Given the description of an element on the screen output the (x, y) to click on. 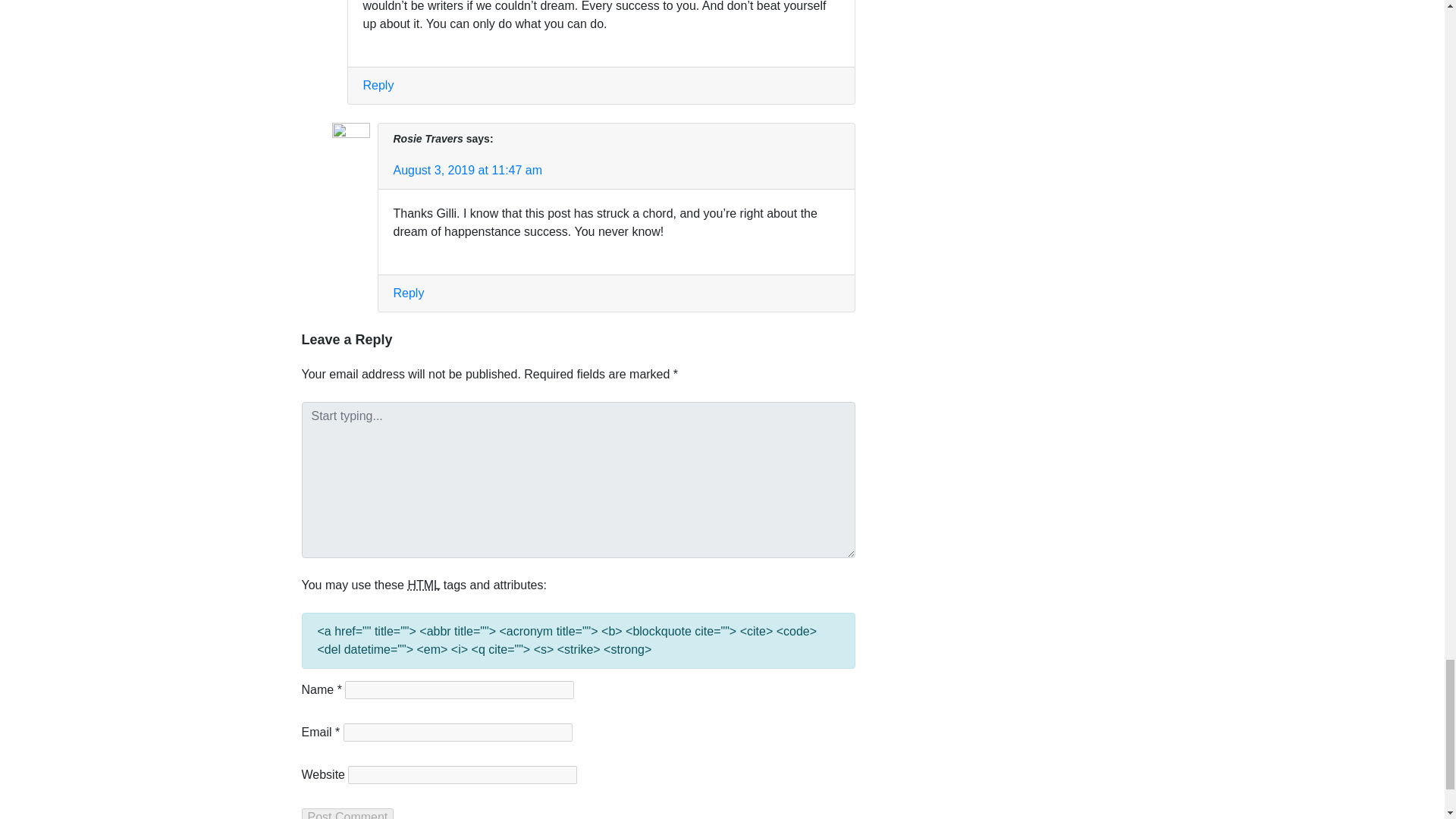
Reply (377, 84)
Post Comment (347, 813)
HyperText Markup Language (423, 584)
Post Comment (347, 813)
August 3, 2019 at 11:47 am (467, 169)
Reply (408, 292)
